Given the description of an element on the screen output the (x, y) to click on. 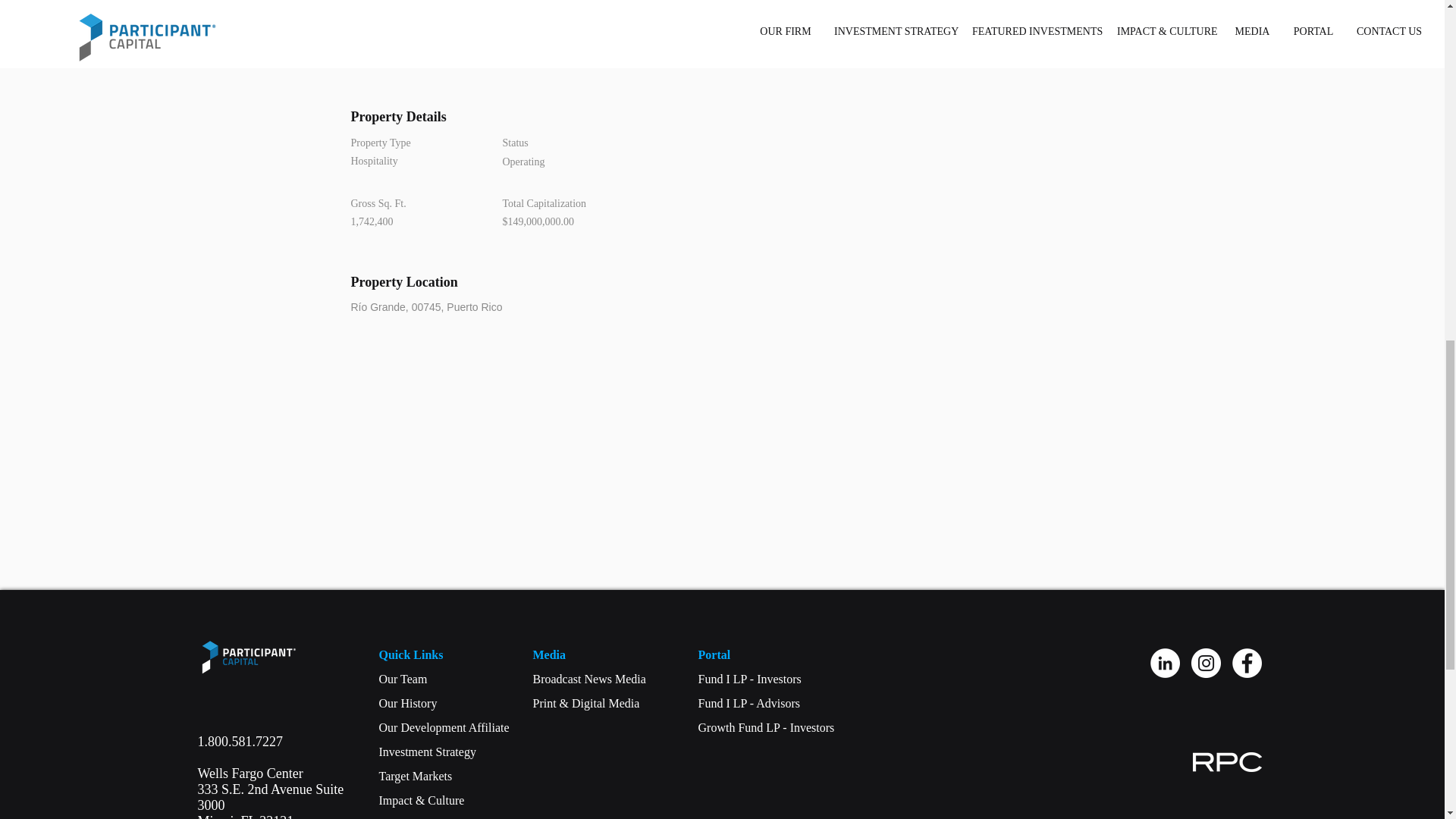
Investment Strategy (249, 757)
Our Team (427, 751)
Broadcast News Media (403, 678)
Our History (588, 678)
Featured Investments (408, 703)
Growth Fund LP - Investors (748, 703)
Target Markets (765, 727)
Fund I LP - Investors (415, 775)
Our Development Affiliate (748, 678)
